Given the description of an element on the screen output the (x, y) to click on. 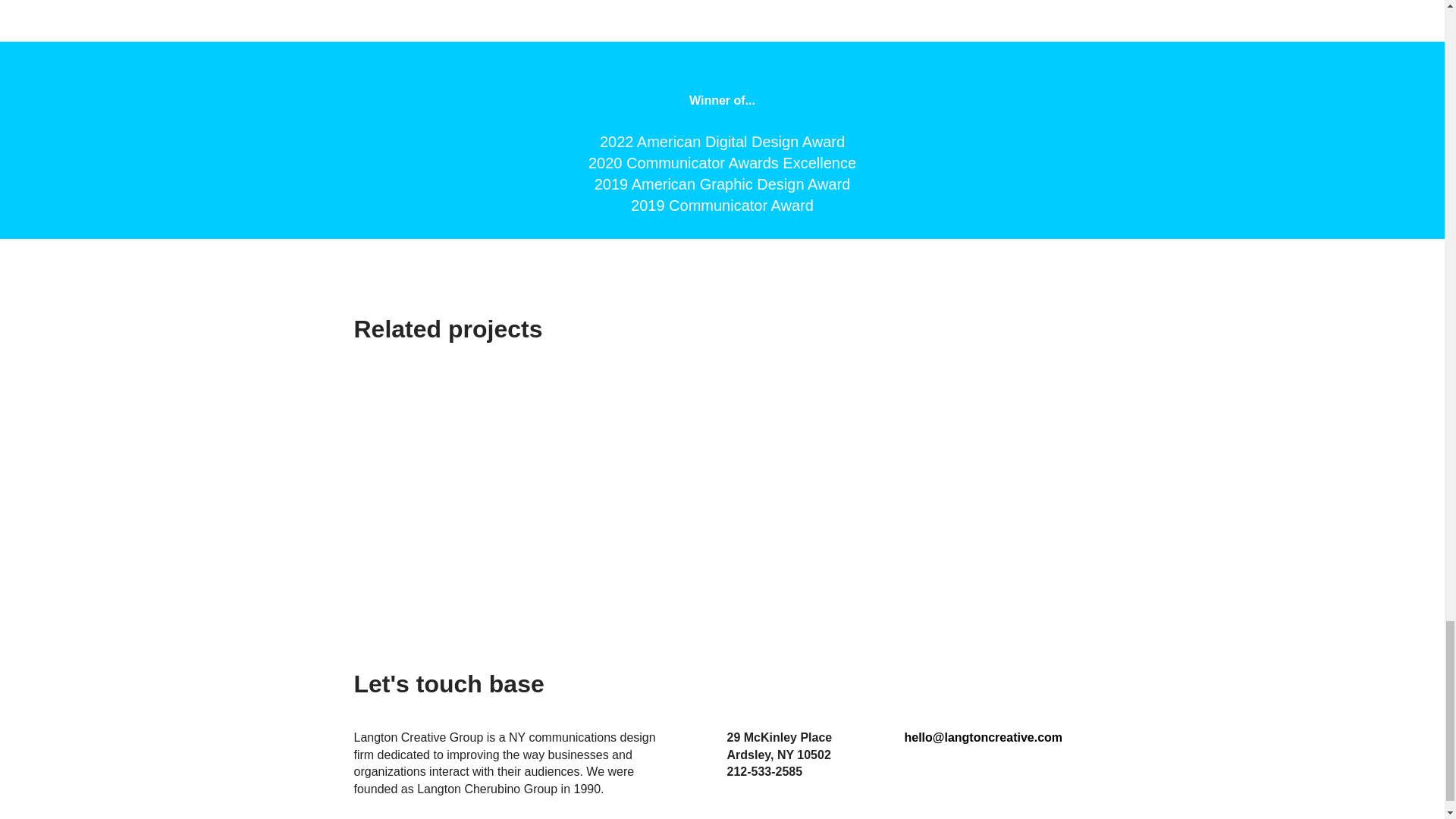
Recharge your team (471, 484)
A public school that acts like a private school (720, 484)
Reflecting your client's needs. (967, 484)
